Given the description of an element on the screen output the (x, y) to click on. 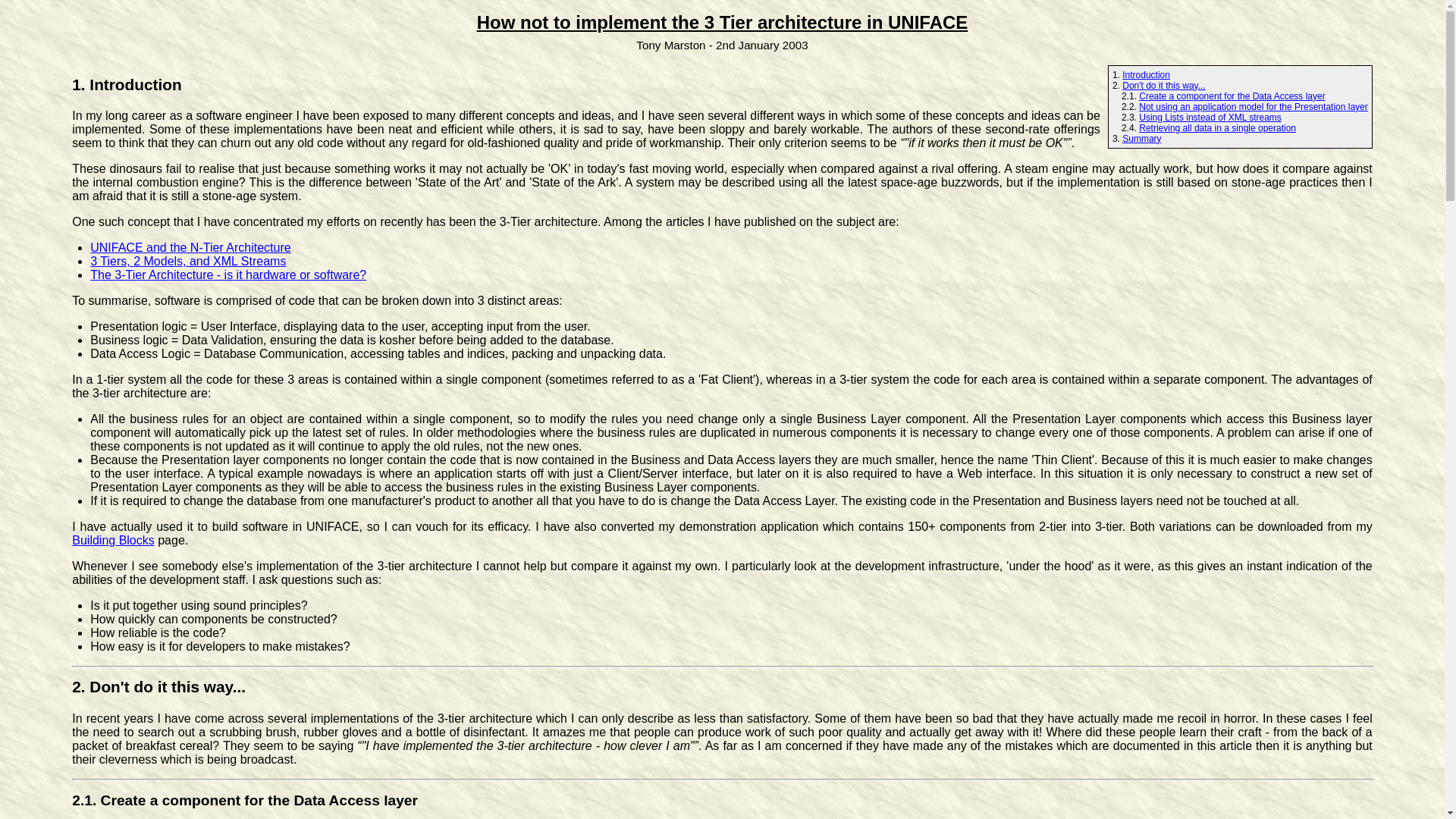
The 3-Tier Architecture - is it hardware or software? (228, 274)
3 Tiers, 2 Models, and XML Streams (187, 260)
UNIFACE and the N-Tier Architecture (189, 246)
Introduction (1146, 74)
2. Don't do it this way... (158, 686)
Retrieving all data in a single operation (1216, 127)
Using Lists instead of XML streams (1209, 117)
2.1. Create a component for the Data Access layer (244, 800)
Summary (1141, 138)
Building Blocks (112, 540)
